Given the description of an element on the screen output the (x, y) to click on. 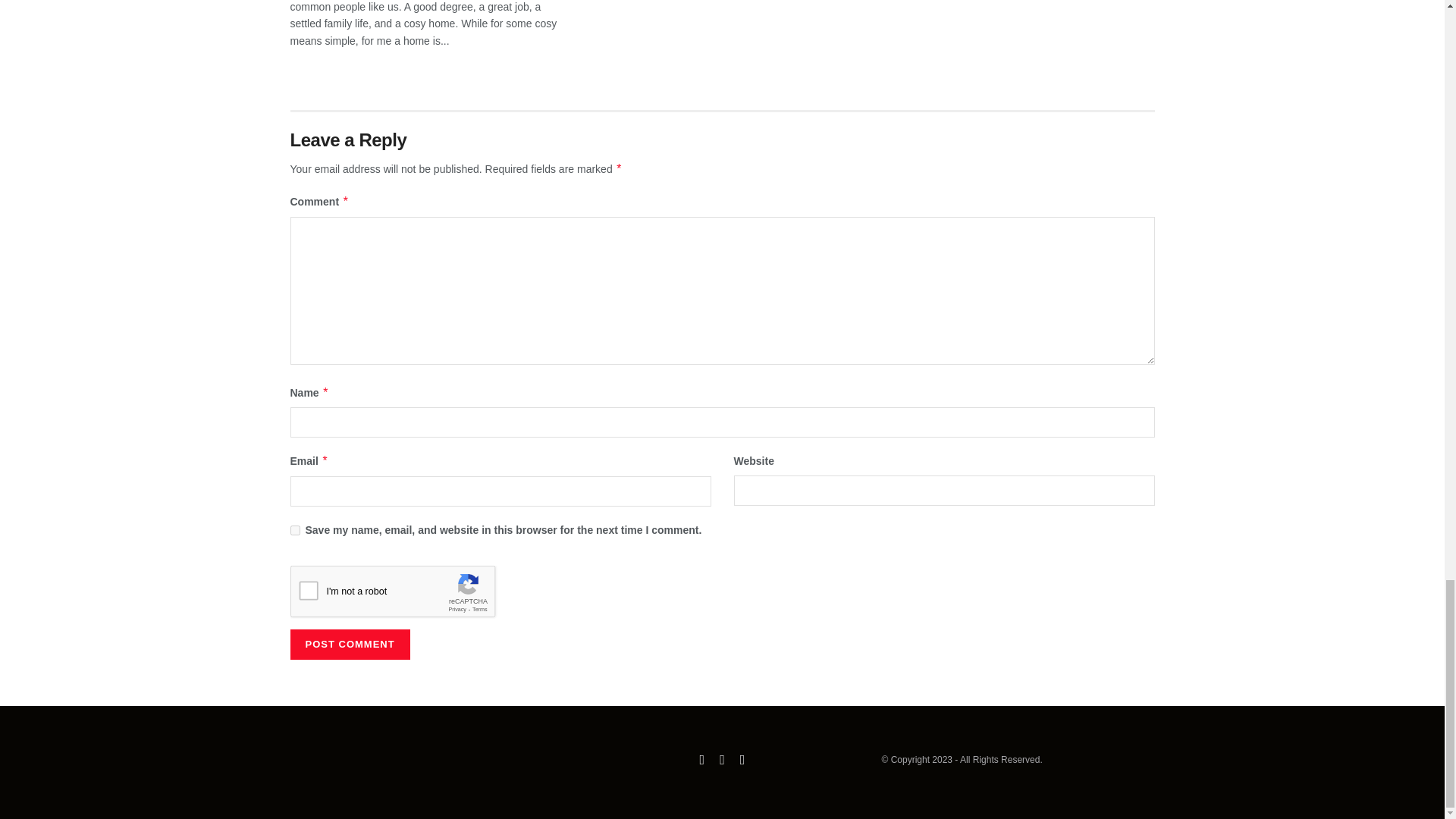
reCAPTCHA (404, 594)
Post Comment (349, 644)
yes (294, 530)
